Given the description of an element on the screen output the (x, y) to click on. 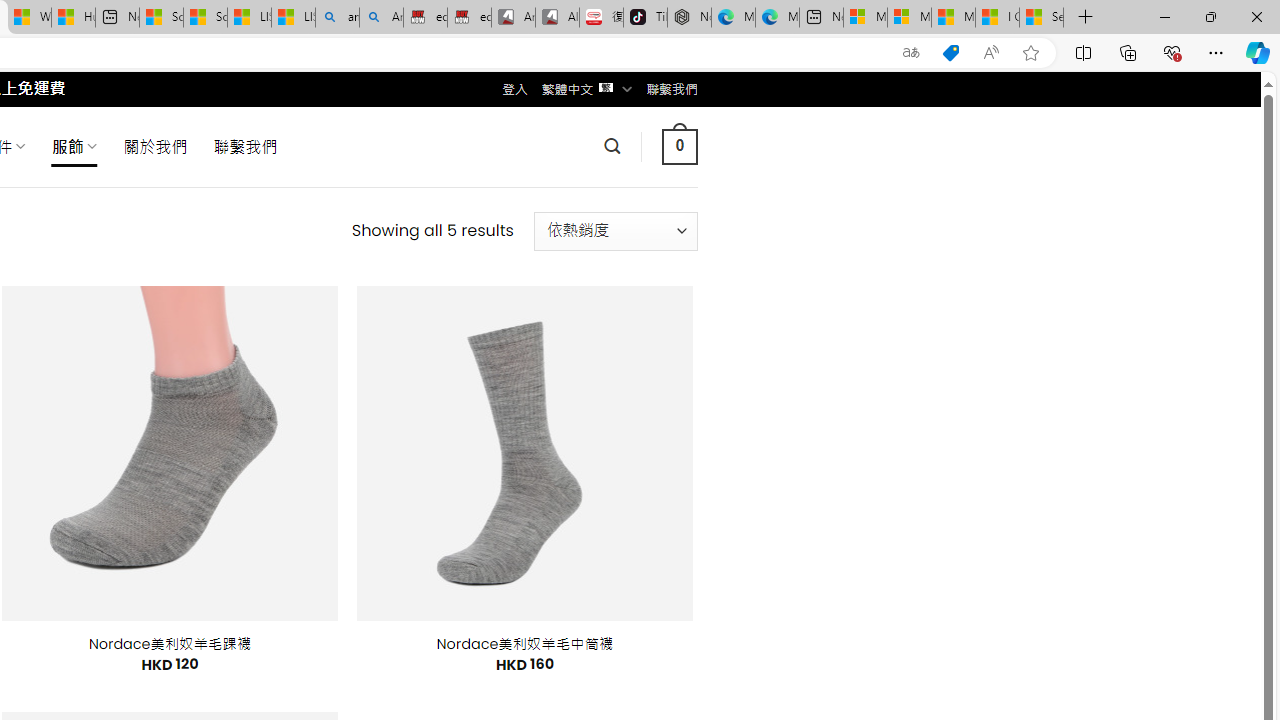
All Cubot phones (557, 17)
Amazon Echo Dot PNG - Search Images (381, 17)
Nordace - Best Sellers (689, 17)
